Given the description of an element on the screen output the (x, y) to click on. 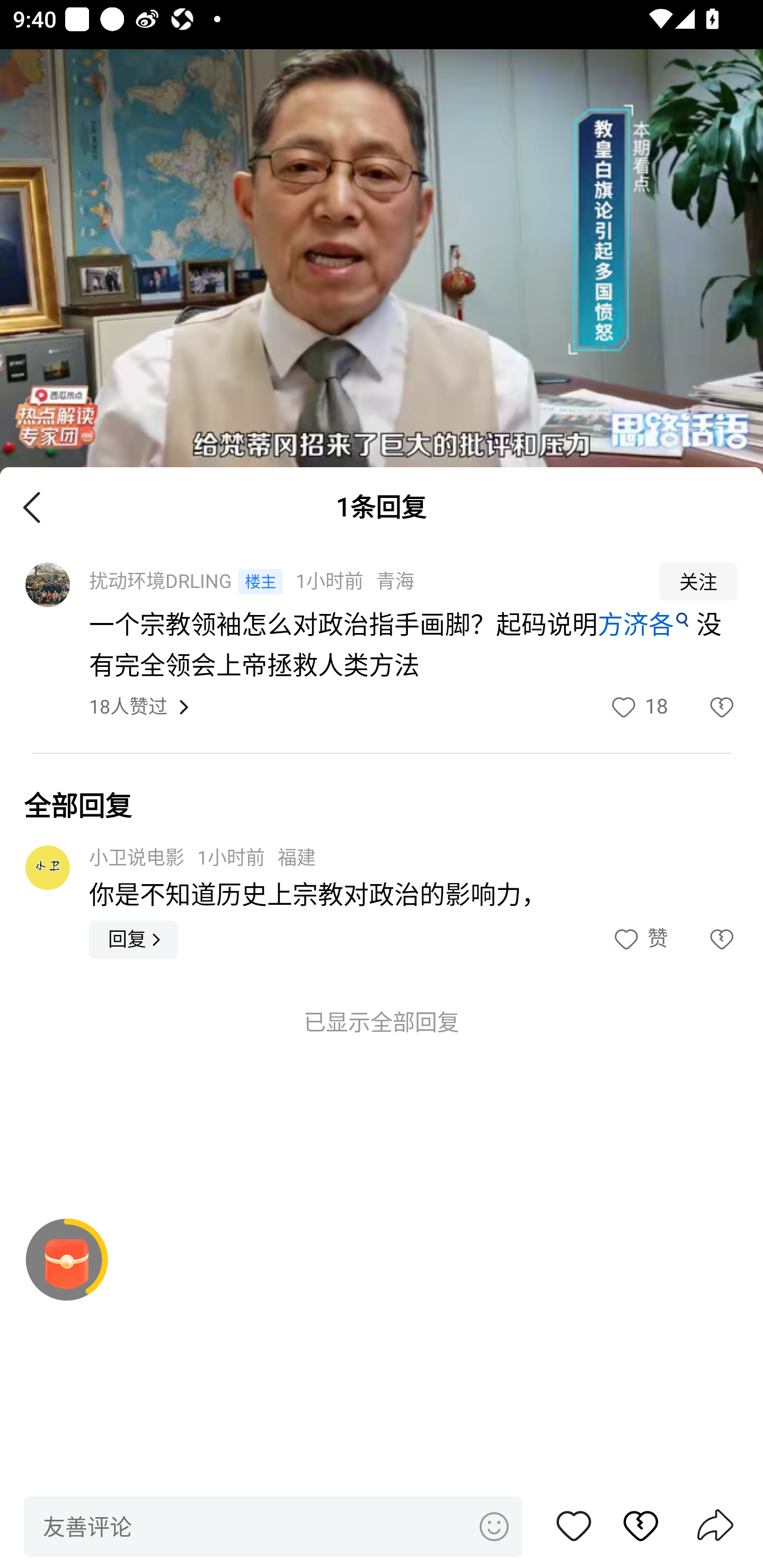
关闭 (31, 506)
关注 (698, 581)
扰动环境DRLING 1小时前 青海 (362, 581)
18人赞过 (128, 707)
赞18 赞 (637, 706)
踩 (702, 706)
小卫说电影 1小时前 福建 (202, 857)
回复 (133, 939)
赞 (638, 938)
踩 (702, 938)
阅读赚金币 (66, 1259)
分享 (715, 1526)
友善评论 表情 (272, 1526)
赞 (574, 1526)
踩 (630, 1526)
表情 (493, 1526)
